Given the description of an element on the screen output the (x, y) to click on. 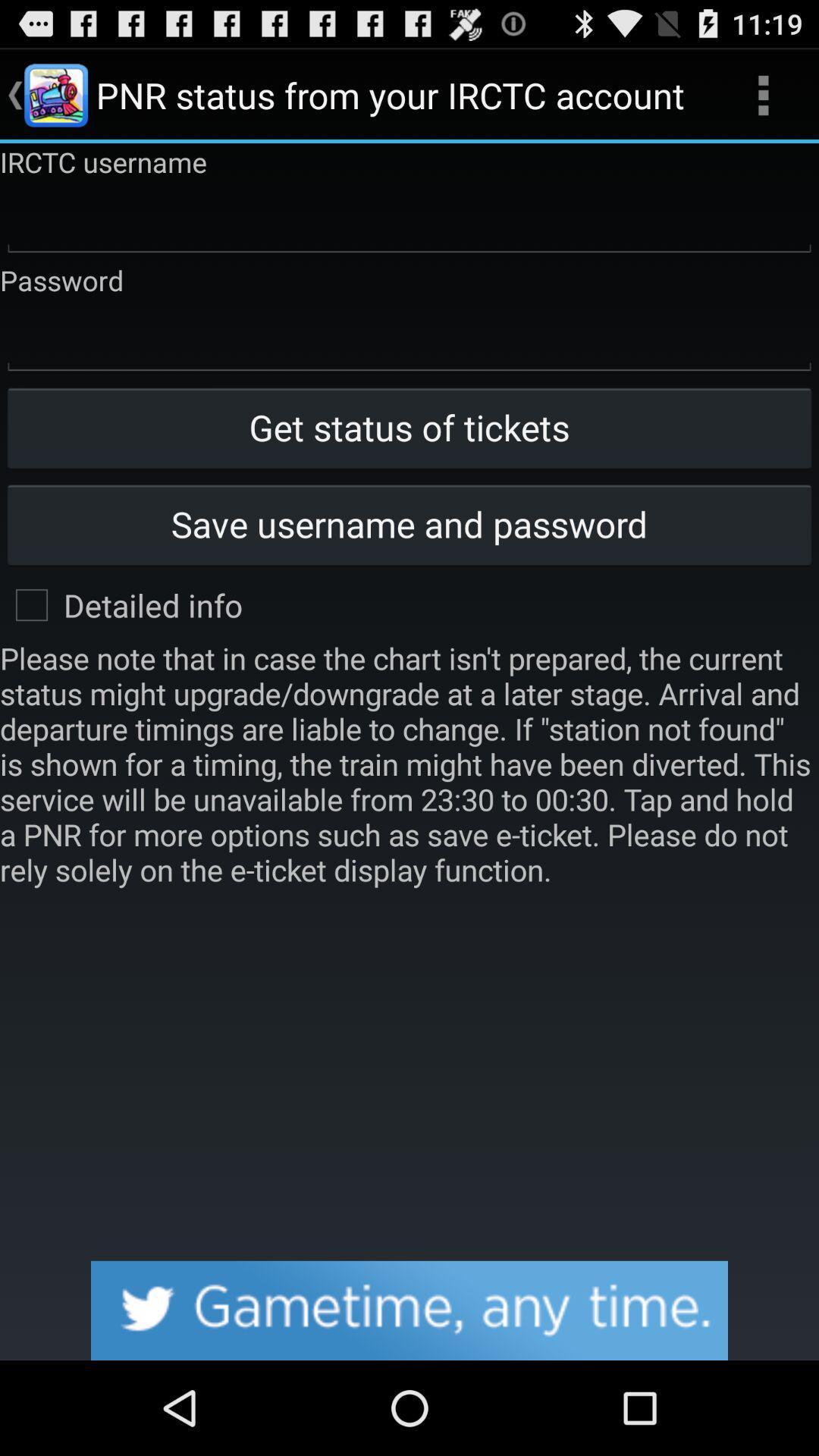
click on add (409, 1310)
